Given the description of an element on the screen output the (x, y) to click on. 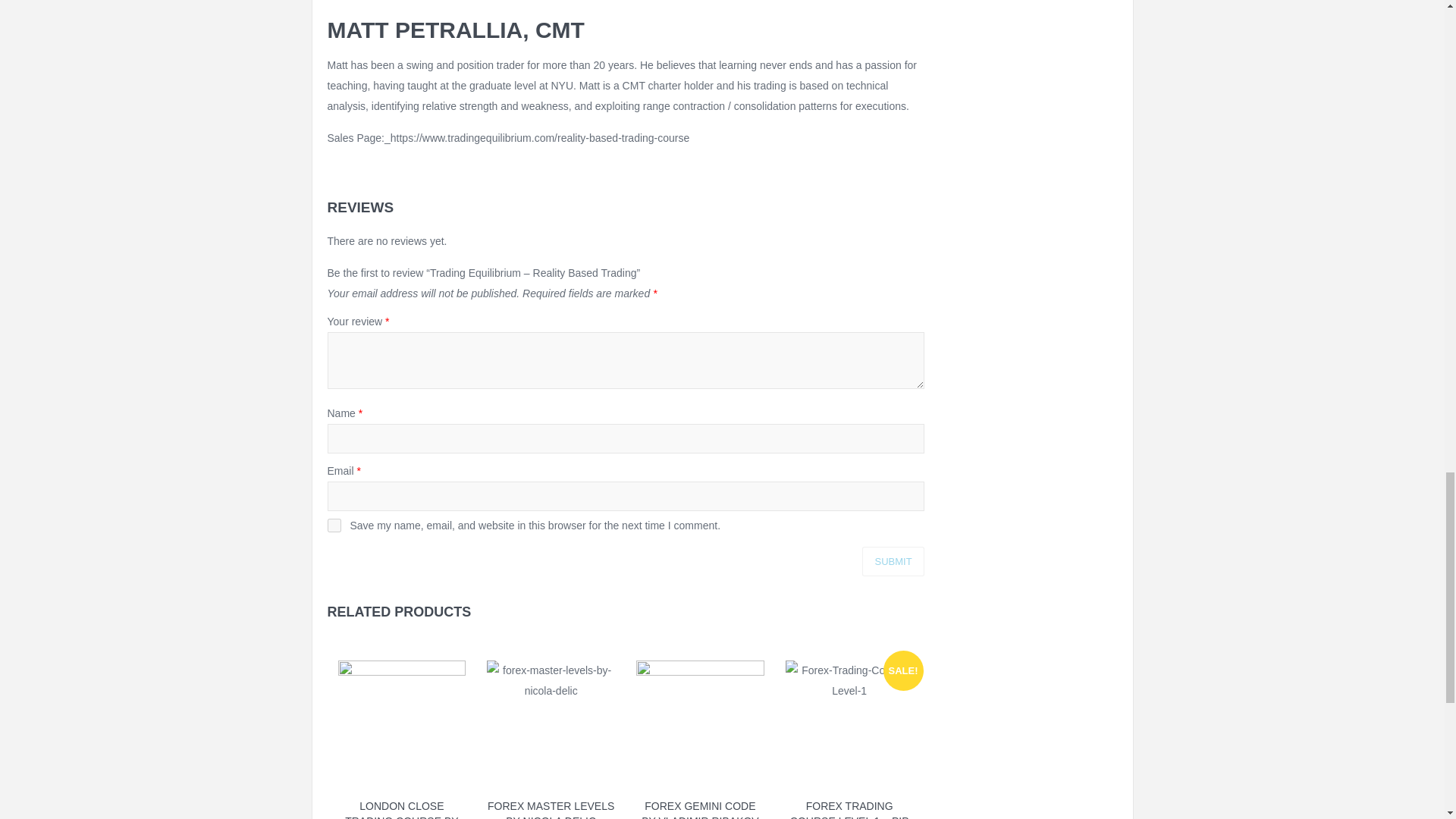
Submit (892, 561)
Submit (892, 561)
yes (333, 525)
